Given the description of an element on the screen output the (x, y) to click on. 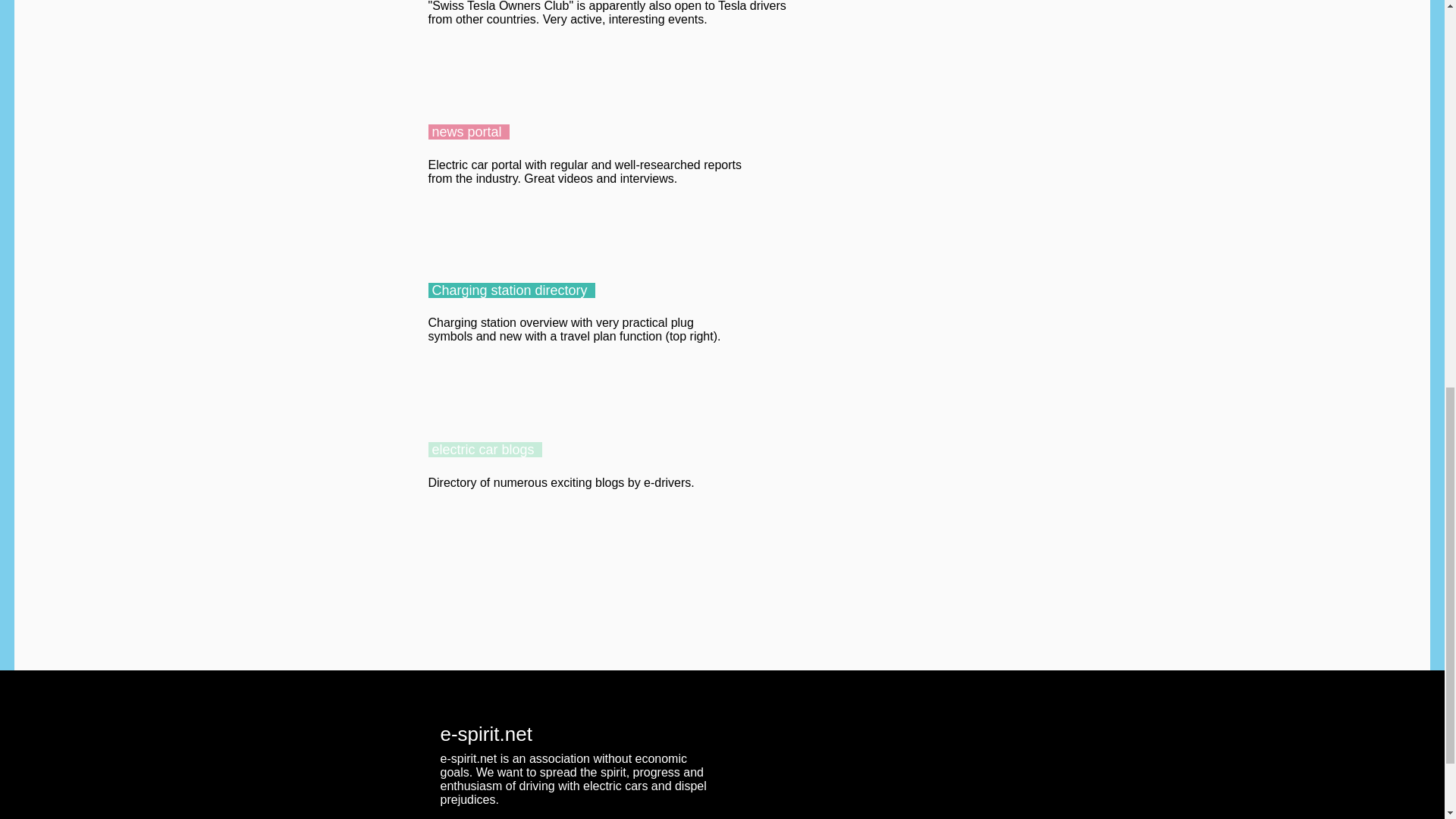
 news portal   (468, 131)
 electric car blogs   (484, 449)
 Charging station directory   (511, 290)
